Given the description of an element on the screen output the (x, y) to click on. 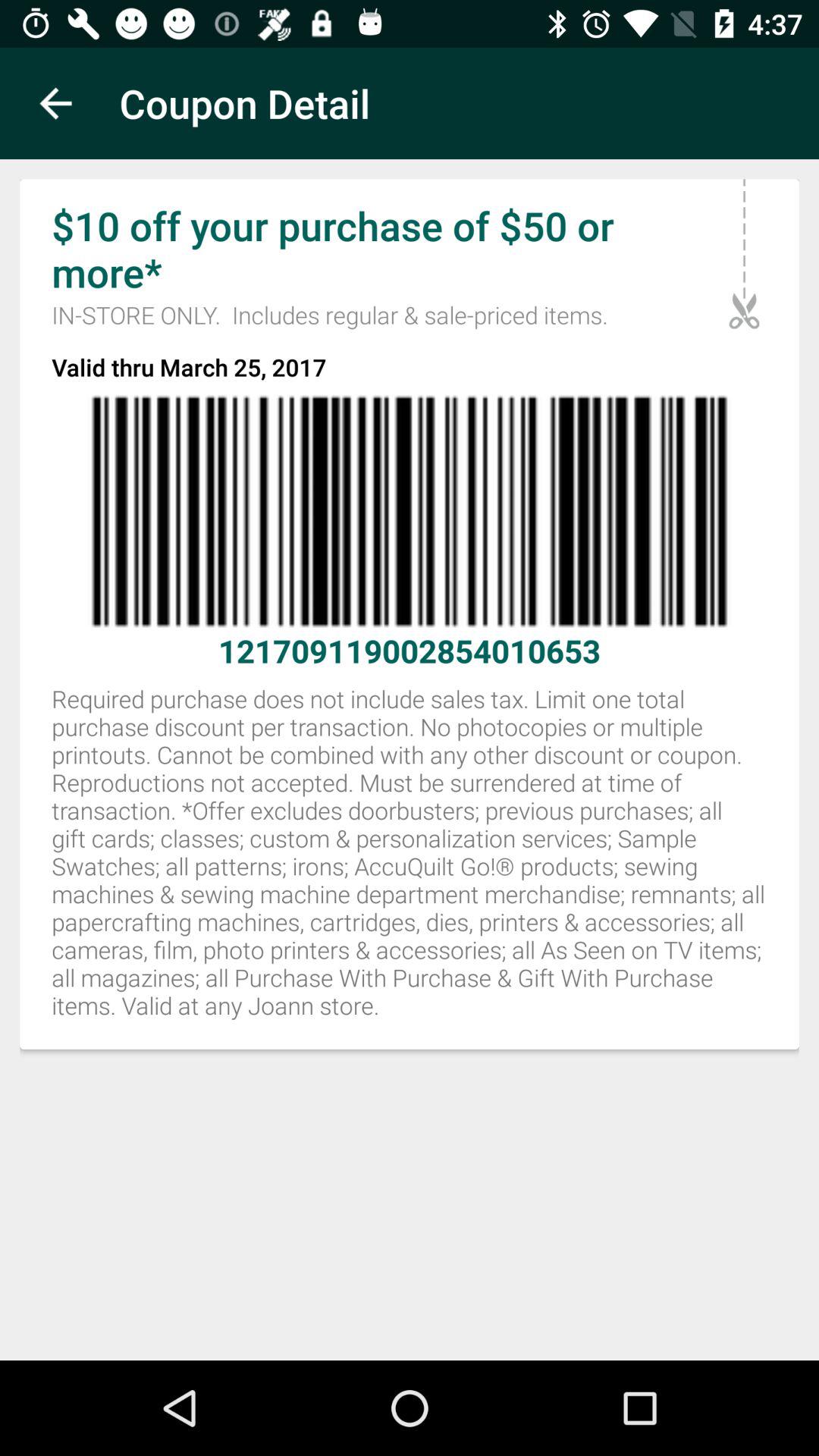
open icon below 121709119002854010653 (409, 860)
